Given the description of an element on the screen output the (x, y) to click on. 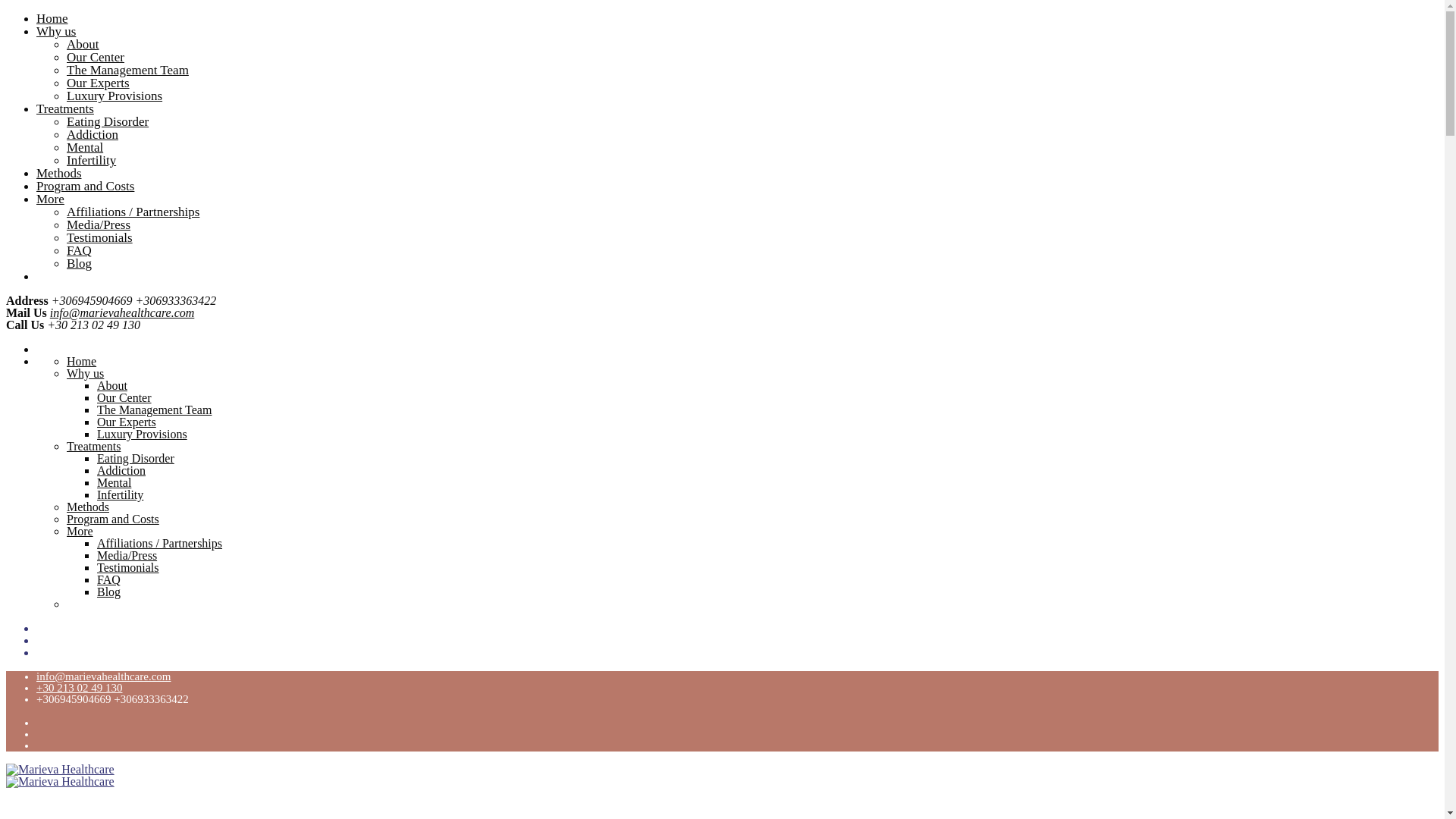
FAQ (78, 250)
Our Center (124, 397)
Infertility (119, 494)
Why us (55, 31)
About (82, 43)
Luxury Provisions (113, 95)
Eating Disorder (135, 458)
The Management Team (154, 409)
Methods (58, 173)
Home (81, 360)
Treatments (93, 445)
Treatments (65, 108)
Program and Costs (112, 518)
Program and Costs (84, 186)
More (50, 198)
